Given the description of an element on the screen output the (x, y) to click on. 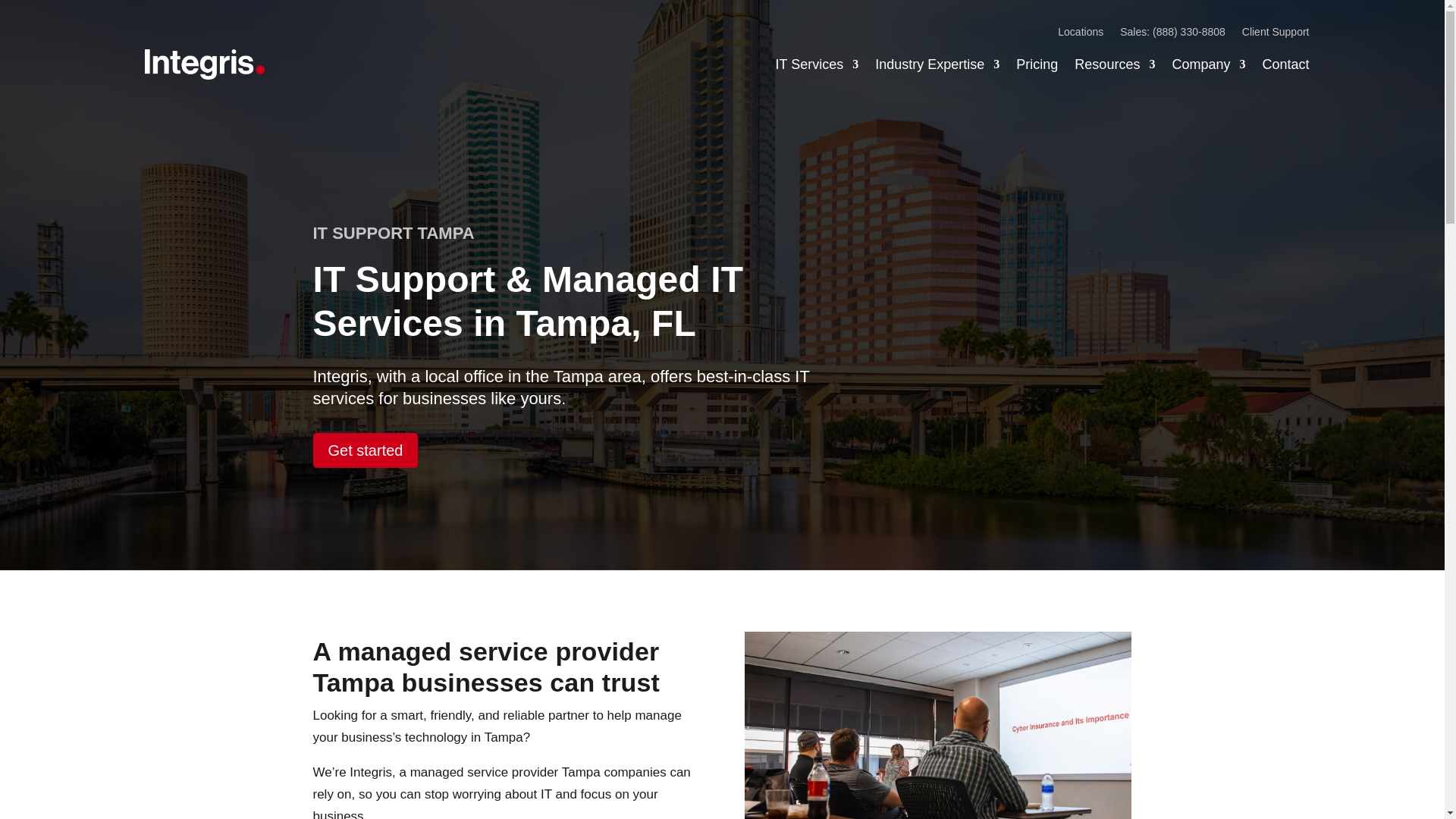
IT Services (817, 64)
Locations (1080, 34)
Client Support (1274, 34)
Resources (1114, 64)
Industry Expertise (936, 64)
Company (1208, 64)
